Given the description of an element on the screen output the (x, y) to click on. 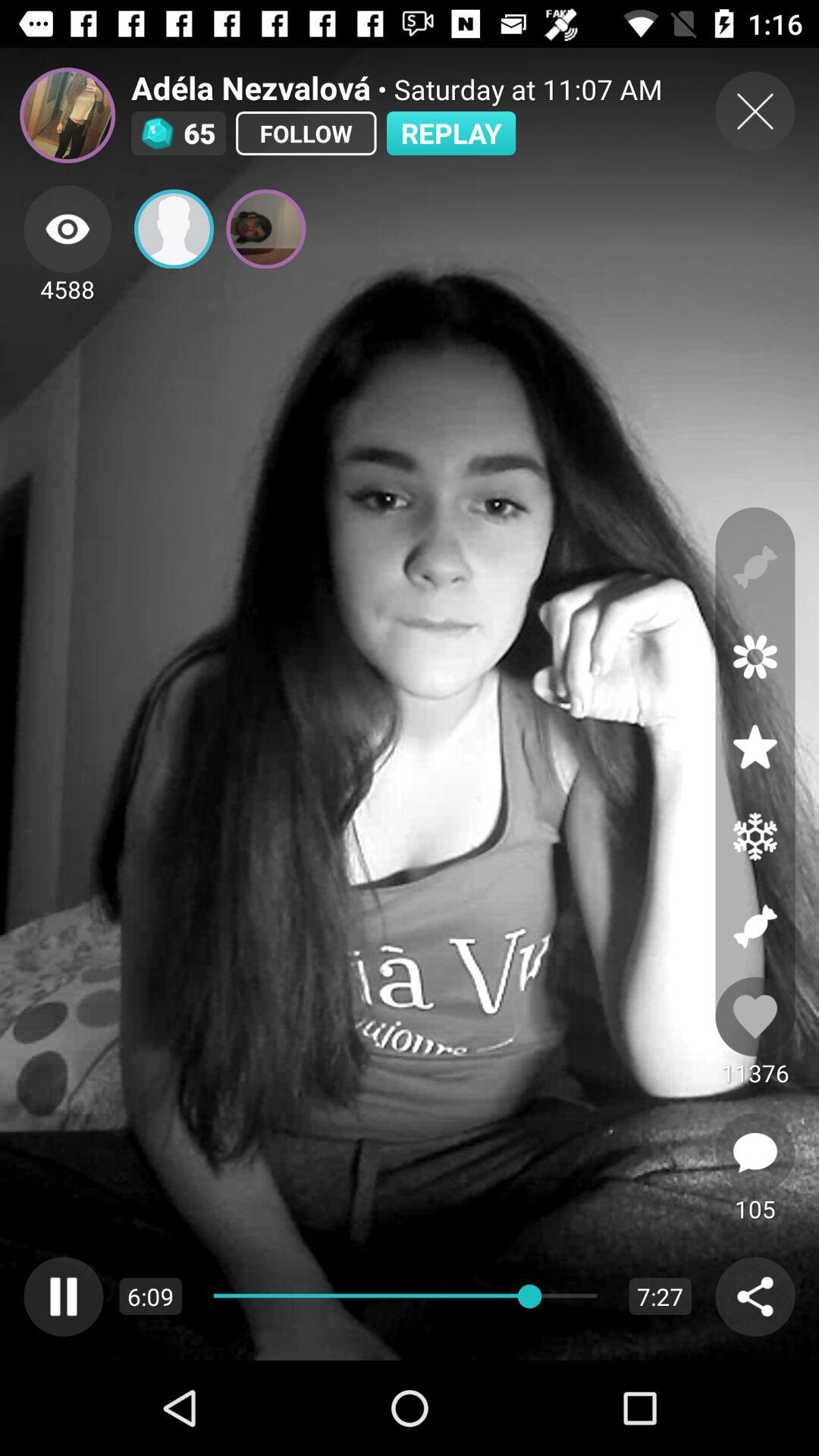
profile (173, 229)
